Given the description of an element on the screen output the (x, y) to click on. 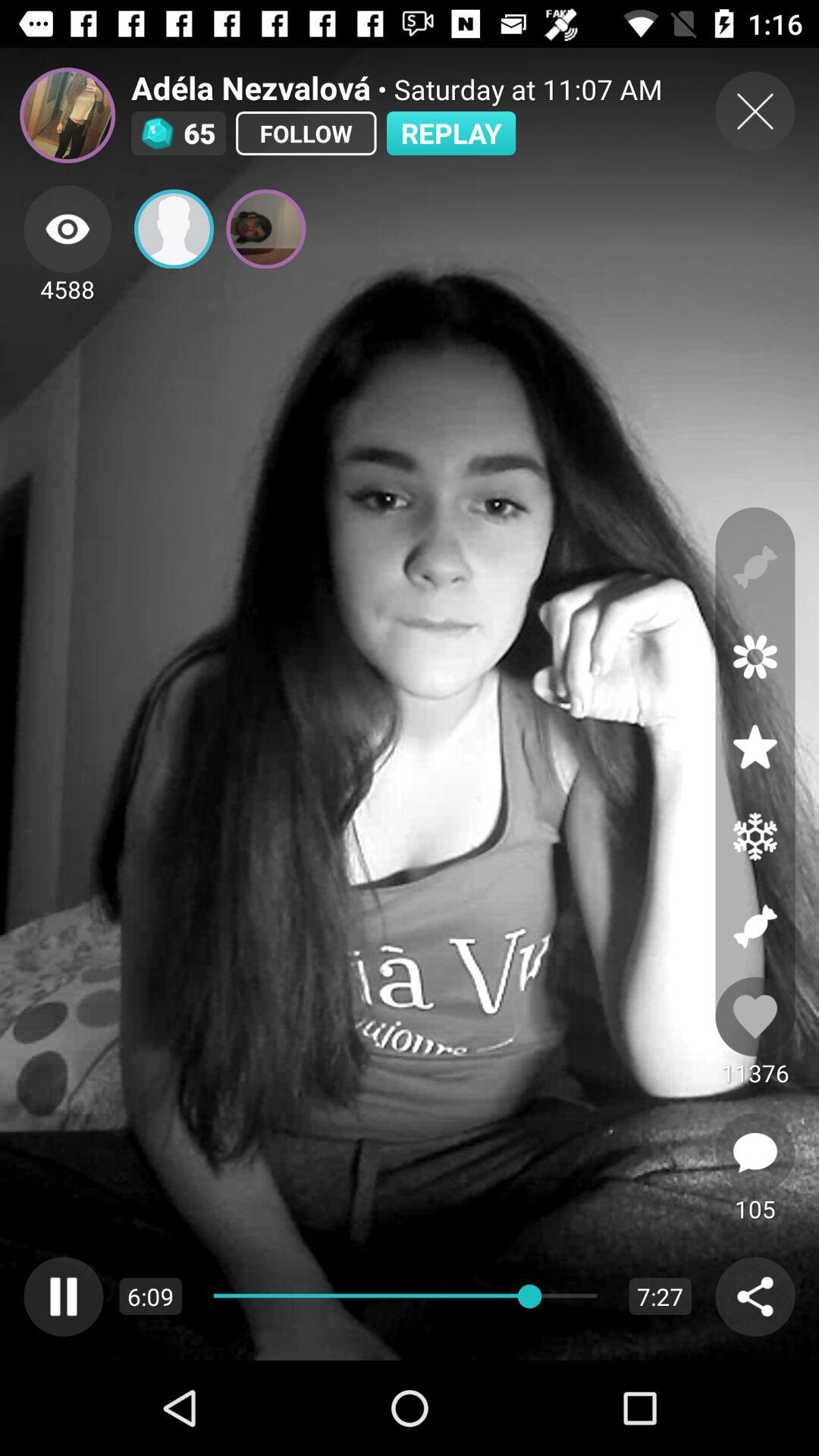
profile (173, 229)
